Given the description of an element on the screen output the (x, y) to click on. 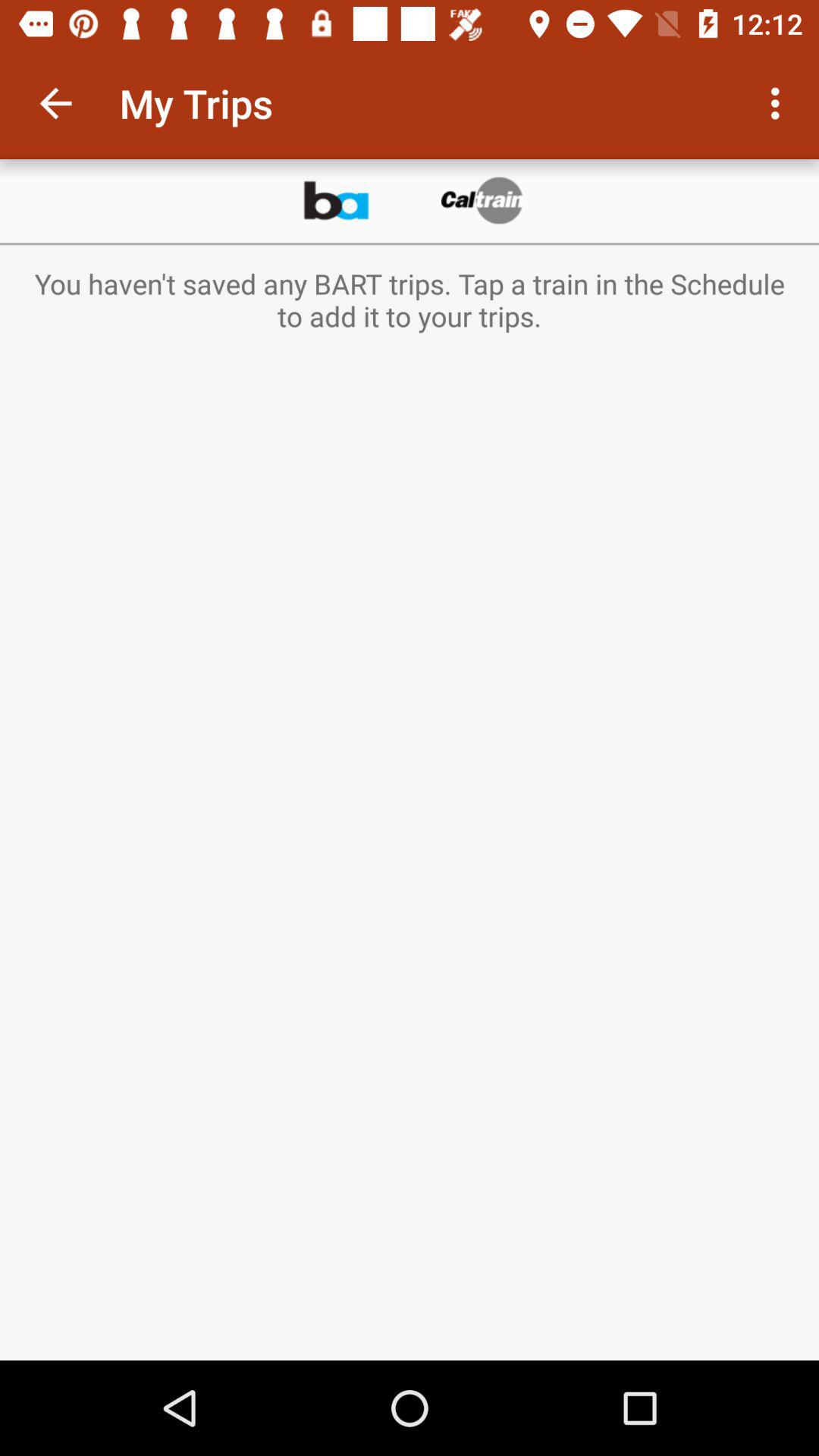
flip until the you haven t item (409, 299)
